Given the description of an element on the screen output the (x, y) to click on. 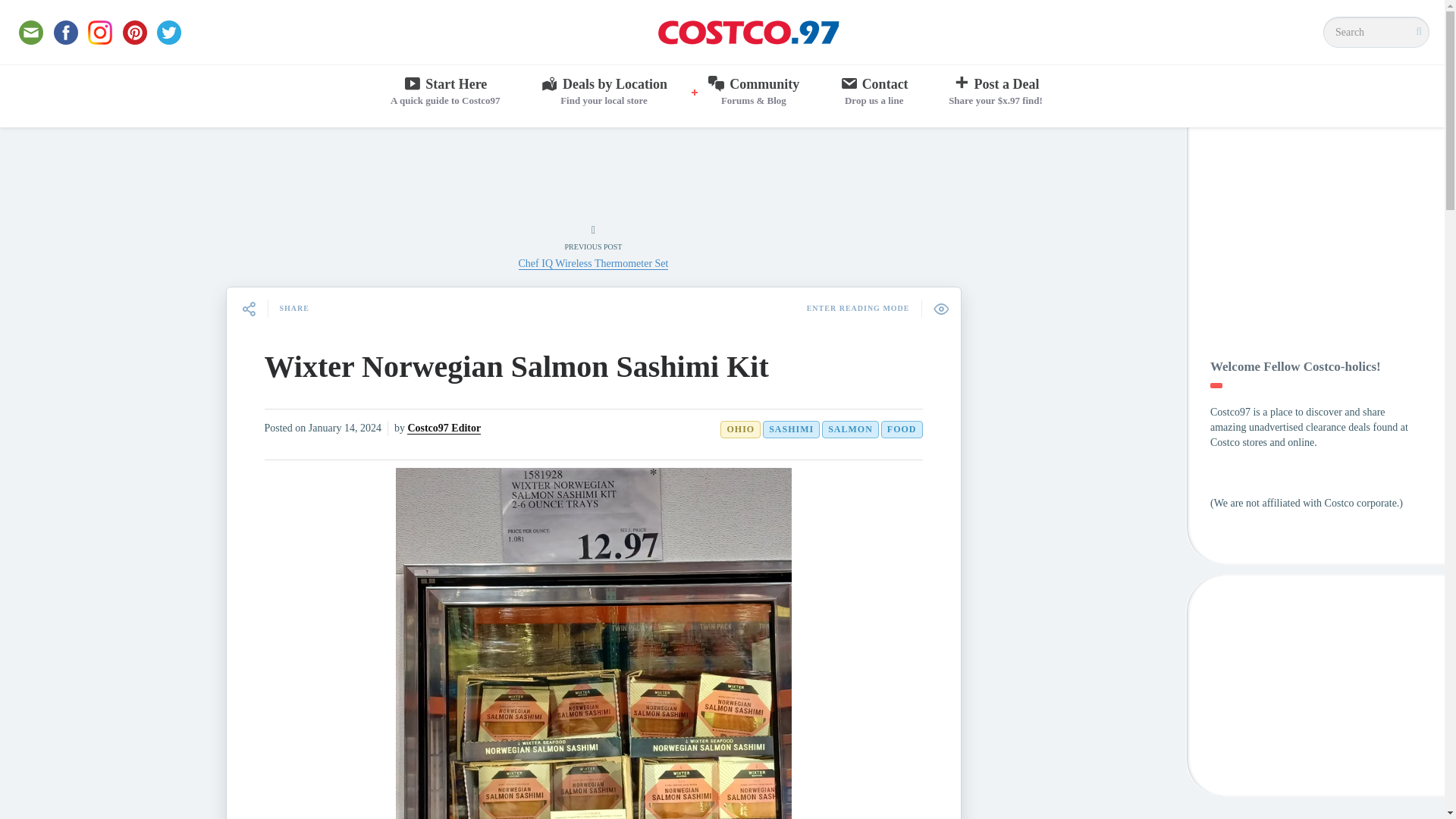
Search for: (445, 92)
Search (604, 92)
Advertisement (1376, 32)
